Given the description of an element on the screen output the (x, y) to click on. 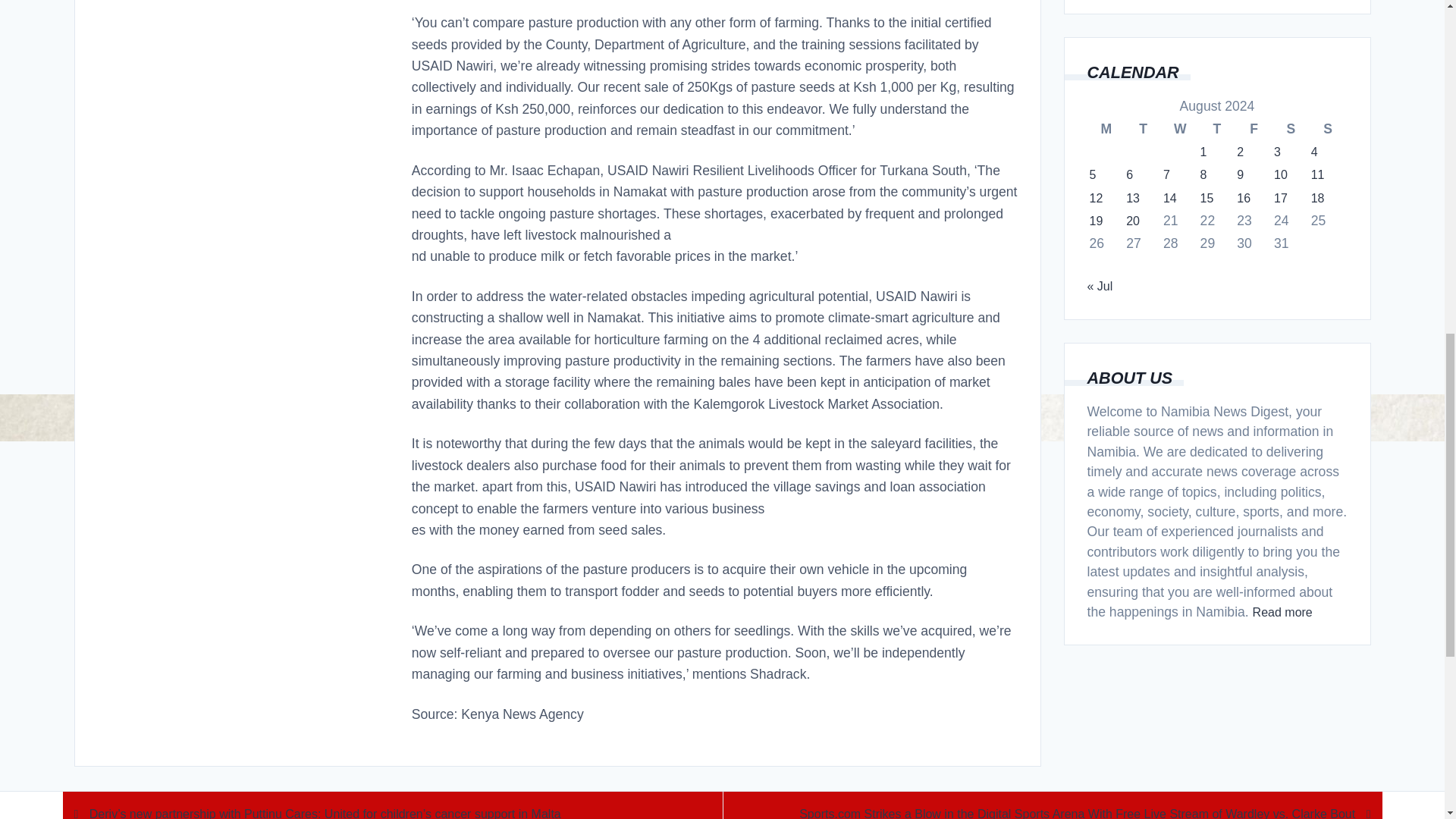
14 (1169, 198)
11 (1317, 174)
Wednesday (1179, 128)
12 (1095, 198)
Sunday (1327, 128)
Friday (1253, 128)
Monday (1106, 128)
13 (1132, 198)
Tuesday (1142, 128)
10 (1280, 174)
